Given the description of an element on the screen output the (x, y) to click on. 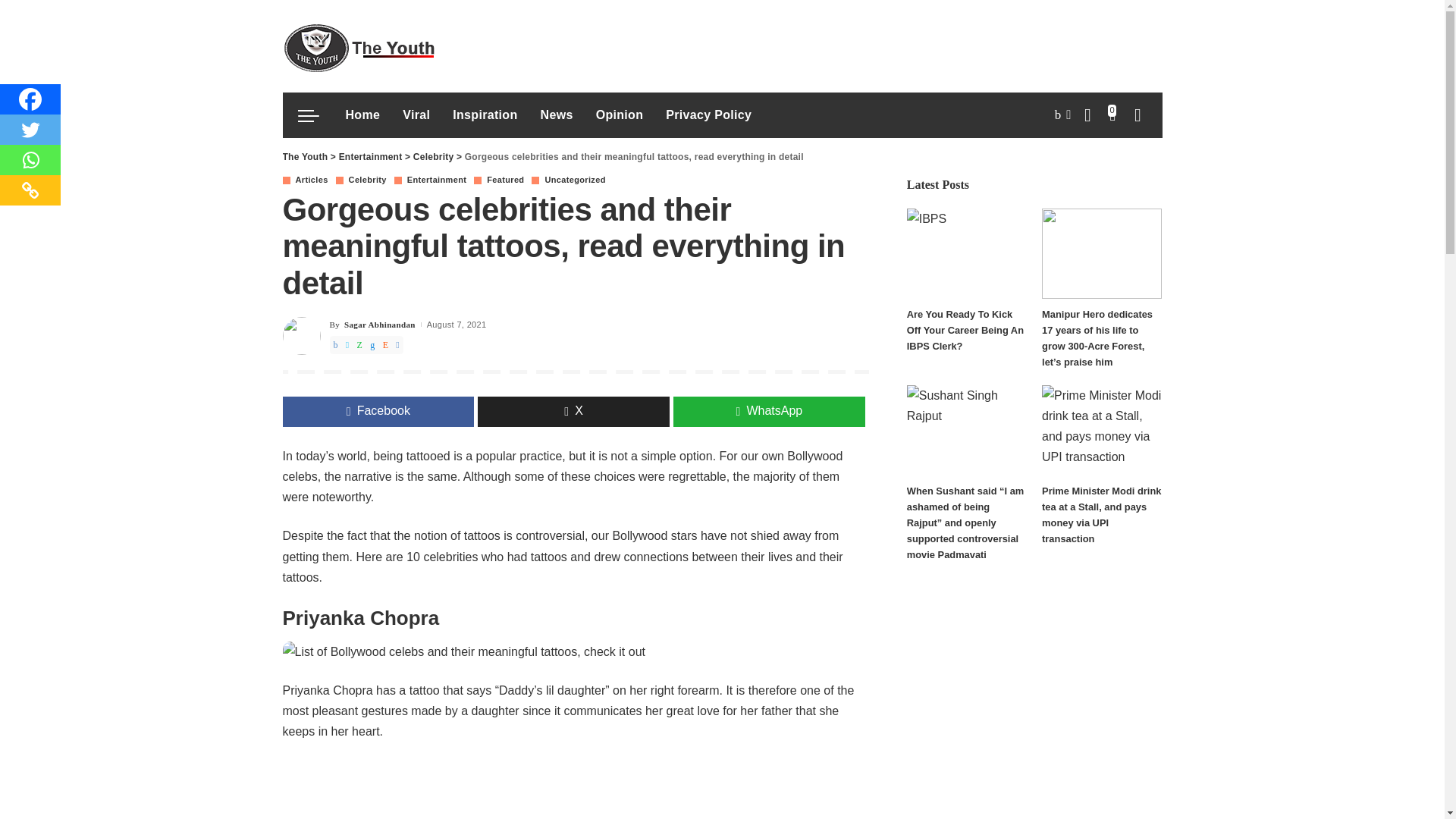
The Youth (357, 45)
Facebook (30, 99)
Go to the Entertainment Category archives. (371, 156)
Go to the Celebrity Category archives. (433, 156)
Go to The Youth. (304, 156)
